Given the description of an element on the screen output the (x, y) to click on. 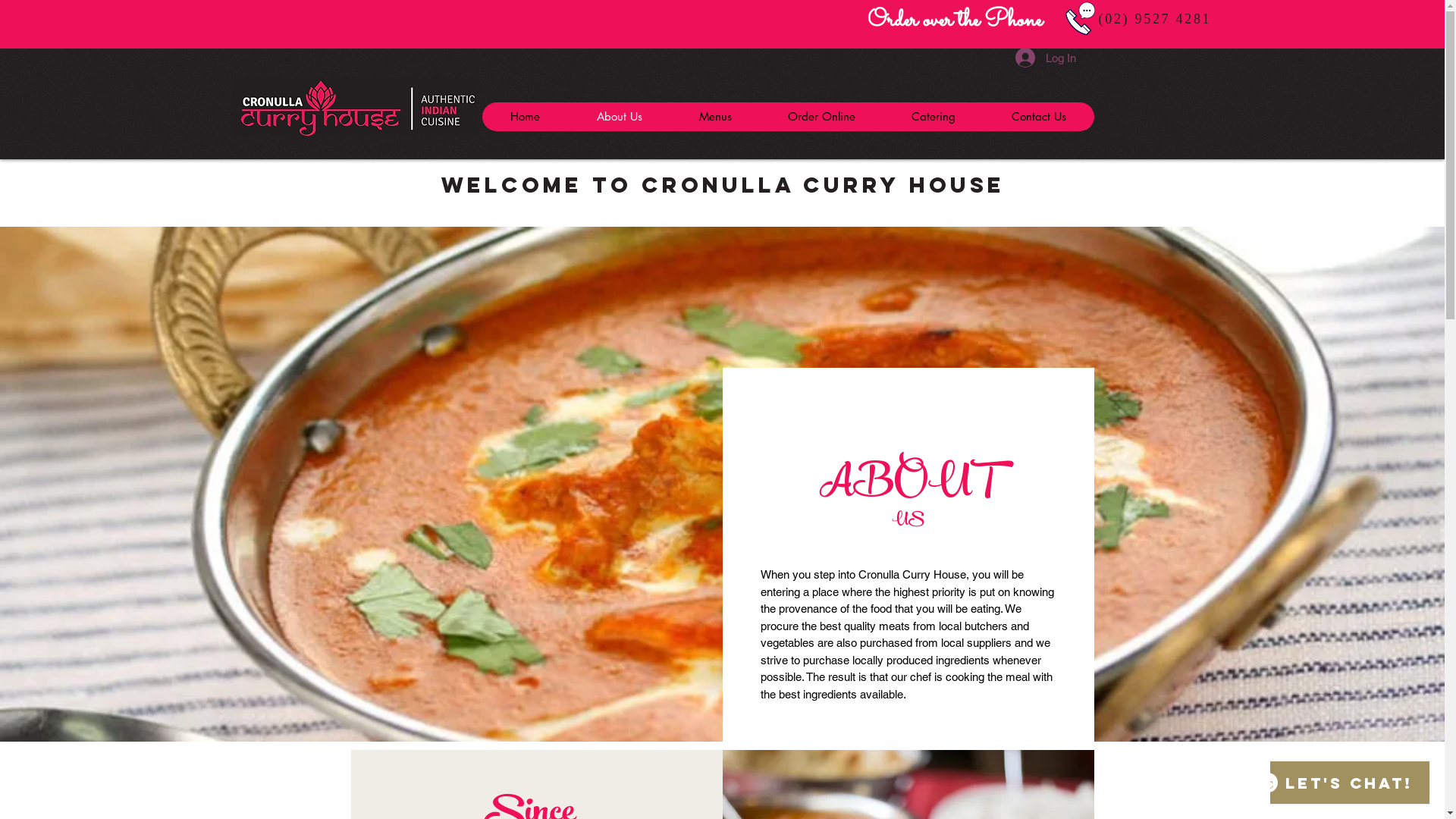
Home Element type: text (524, 116)
Restaurant Social Bar Element type: hover (68, 19)
Menus Element type: text (714, 116)
Catering Element type: text (932, 116)
Log In Element type: text (1044, 57)
About Us Element type: text (618, 116)
Contact Us Element type: text (1037, 116)
Order Online Element type: text (821, 116)
